Given the description of an element on the screen output the (x, y) to click on. 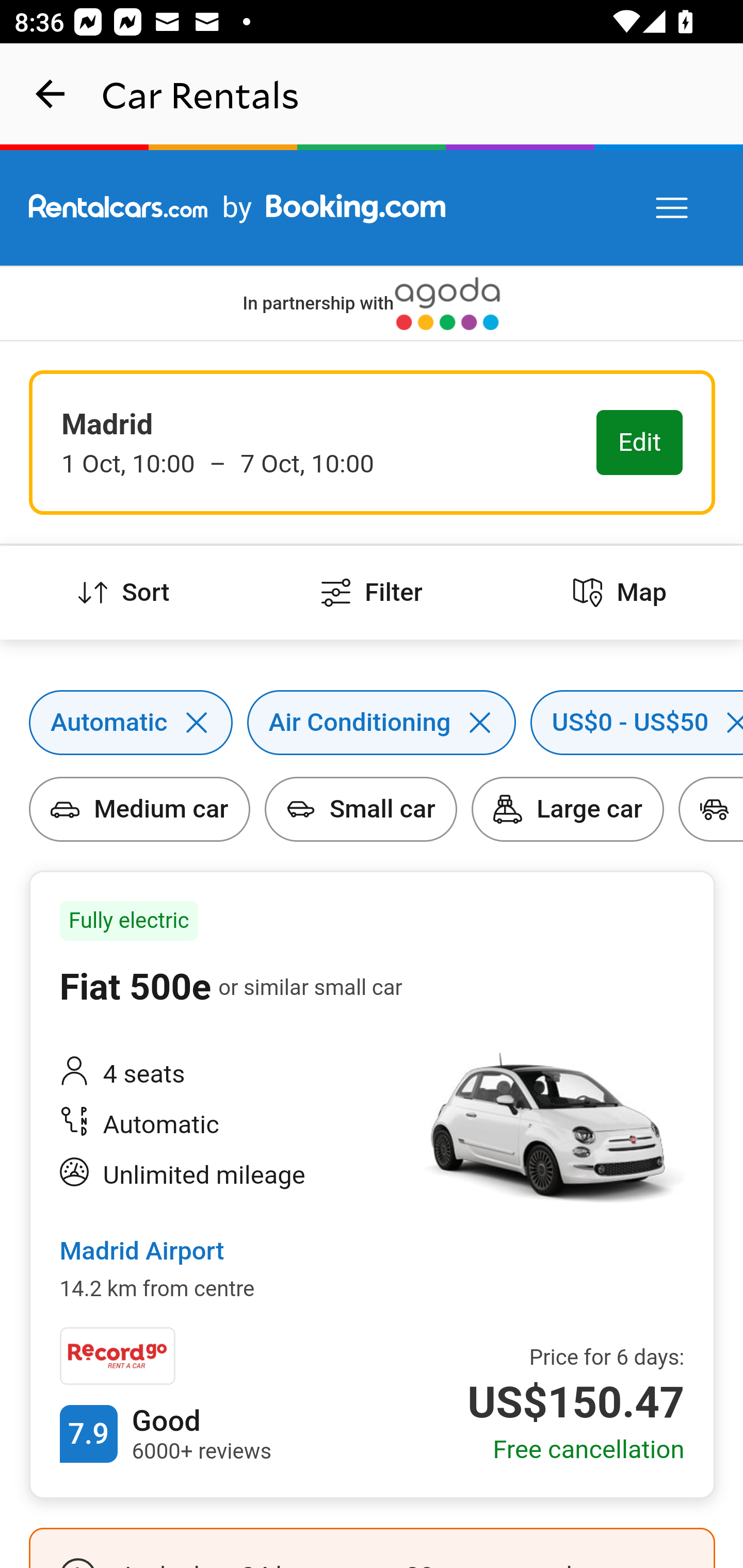
navigation_button (50, 93)
Menu (672, 208)
Edit (639, 443)
Sort (124, 592)
Filter (371, 592)
4 seats (225, 1074)
Automatic (225, 1125)
Unlimited mileage (225, 1175)
Madrid Airport (141, 1251)
